Given the description of an element on the screen output the (x, y) to click on. 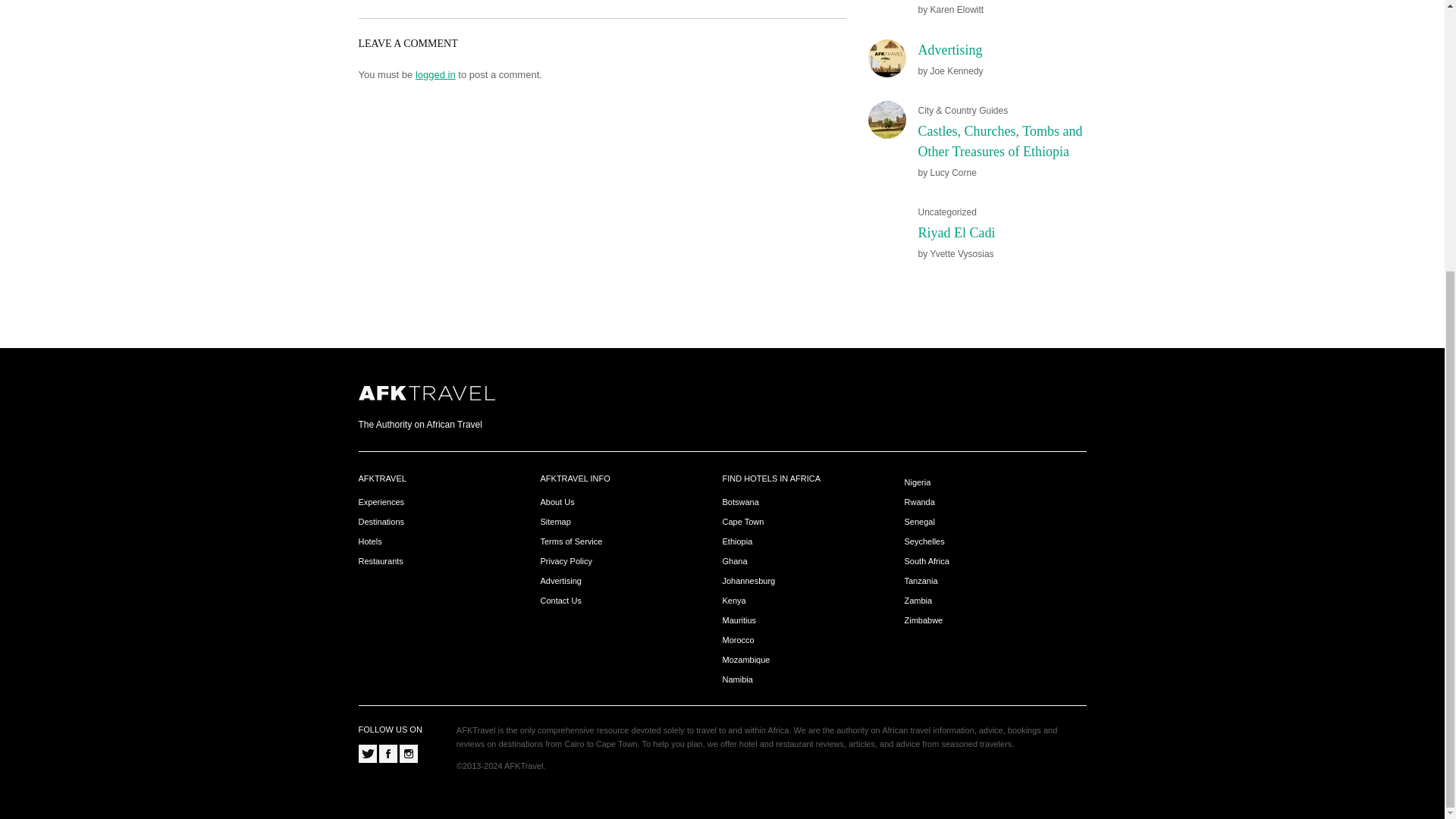
About Us (556, 501)
Restaurants (380, 561)
Experiences (381, 501)
Hotels (369, 542)
logged in (434, 73)
Destinations (381, 521)
Riyad El Cadi (955, 232)
Advertising (949, 50)
Castles, Churches, Tombs and Other Treasures of Ethiopia (999, 141)
